Given the description of an element on the screen output the (x, y) to click on. 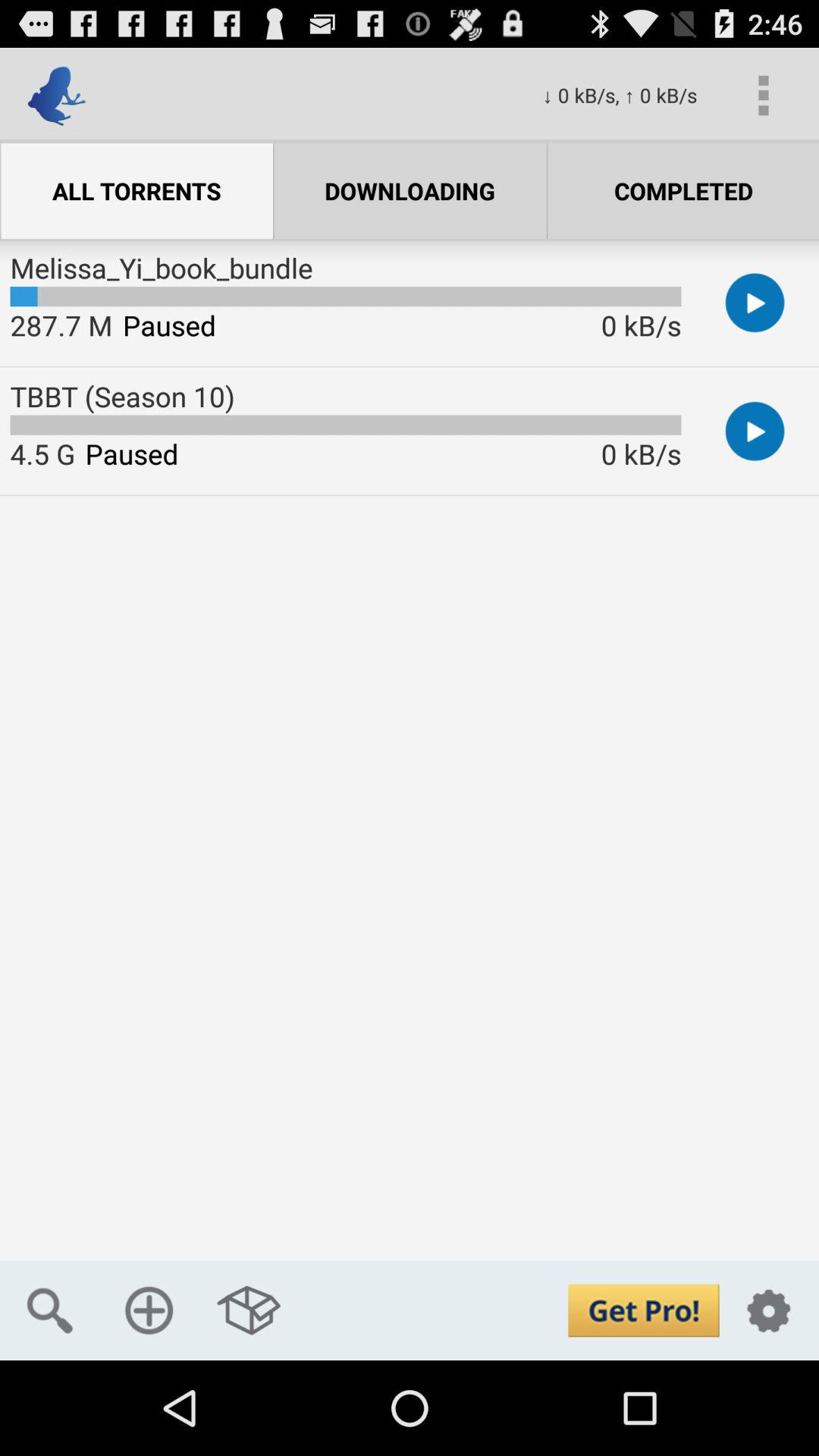
press the icon above completed icon (763, 95)
